Given the description of an element on the screen output the (x, y) to click on. 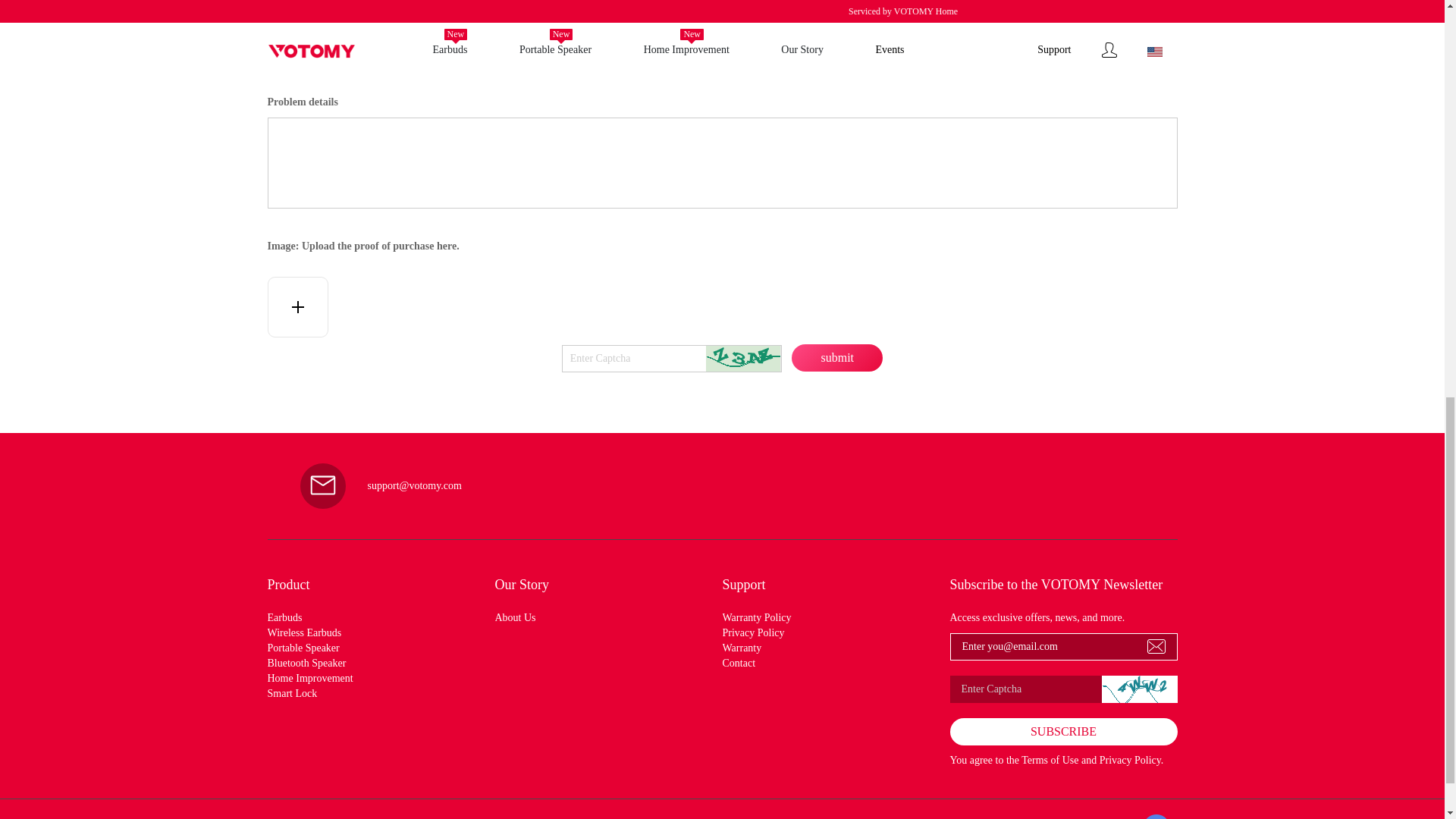
SUBSCRIBE (1062, 731)
